Given the description of an element on the screen output the (x, y) to click on. 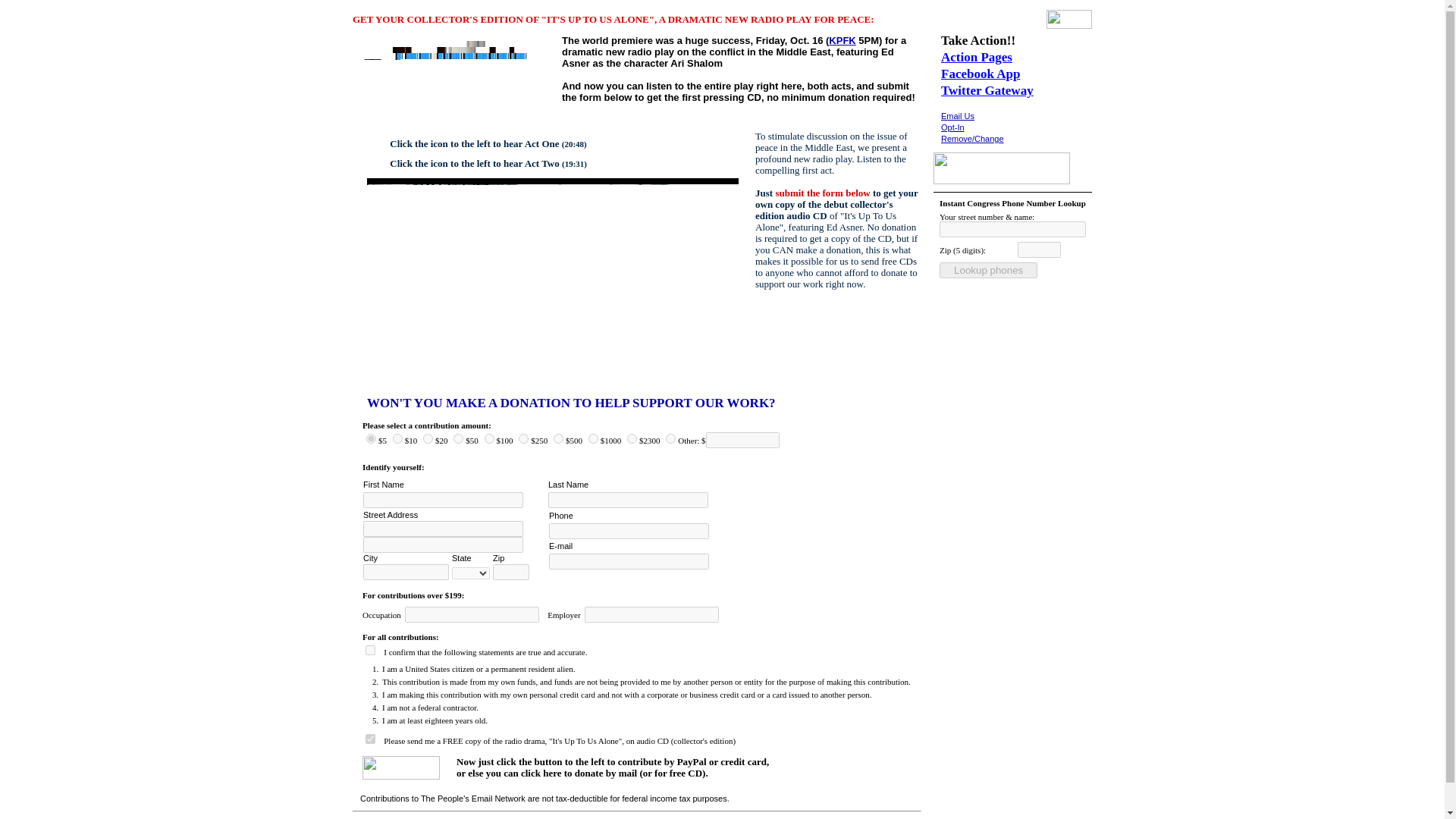
10 (398, 438)
100 (488, 438)
500 (558, 438)
Facebook App (980, 73)
KPFK (842, 40)
Opt-In (951, 126)
Twitter Gateway (986, 90)
250 (523, 438)
50 (457, 438)
20 (427, 438)
5 (370, 438)
other (670, 438)
Email Us (957, 115)
1000 (593, 438)
Action Pages (975, 56)
